Given the description of an element on the screen output the (x, y) to click on. 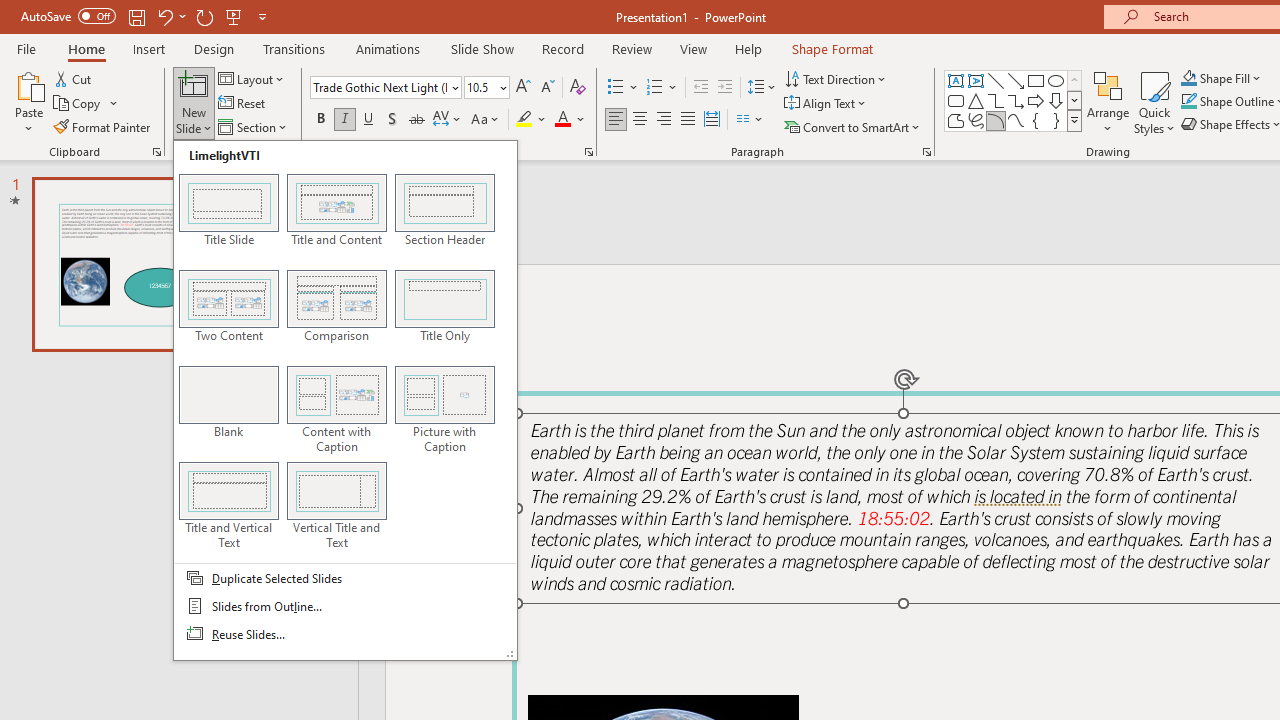
Shape Format (832, 48)
